Given the description of an element on the screen output the (x, y) to click on. 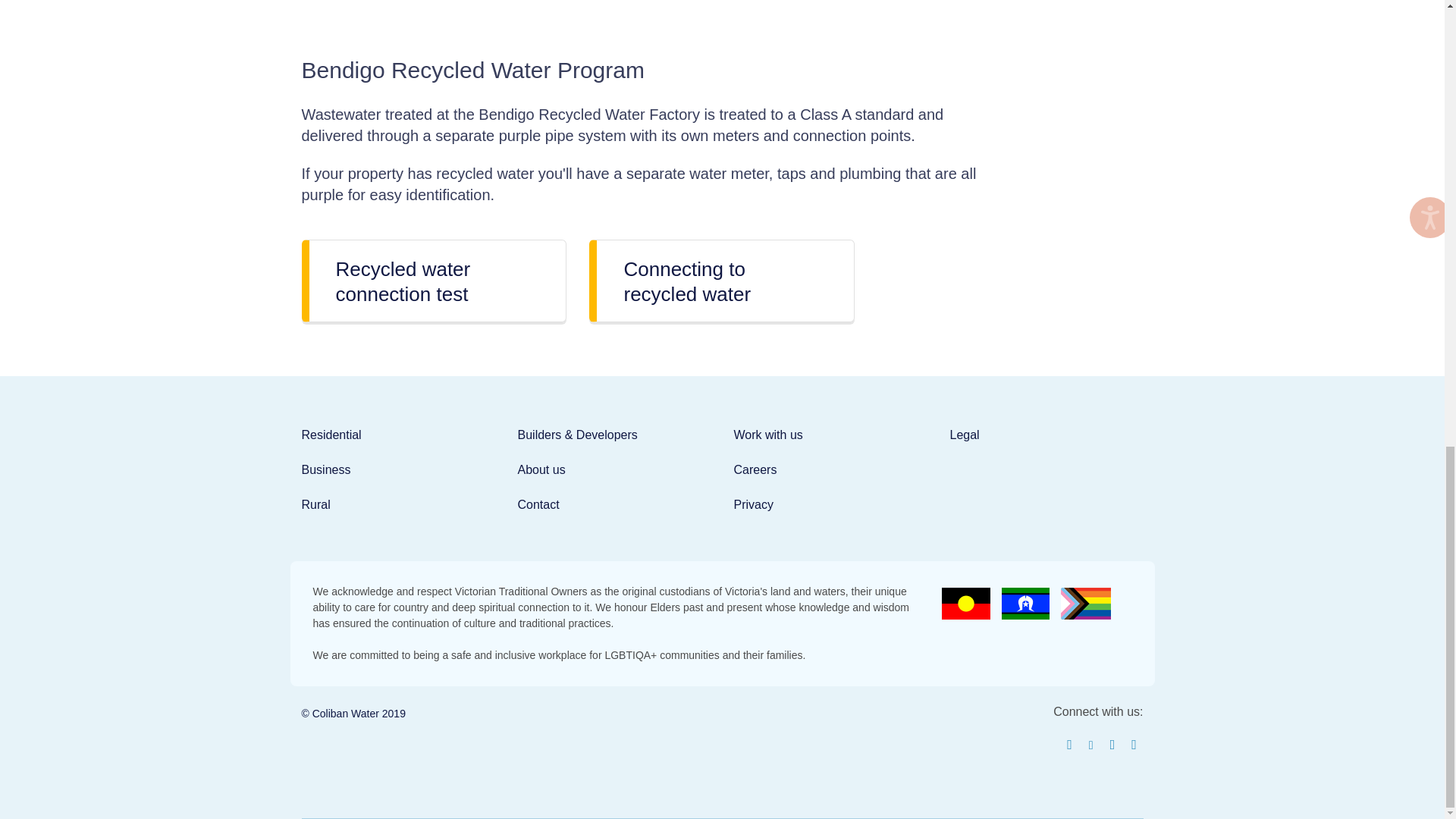
Business (325, 469)
Rural (315, 504)
Residential (331, 434)
